Given the description of an element on the screen output the (x, y) to click on. 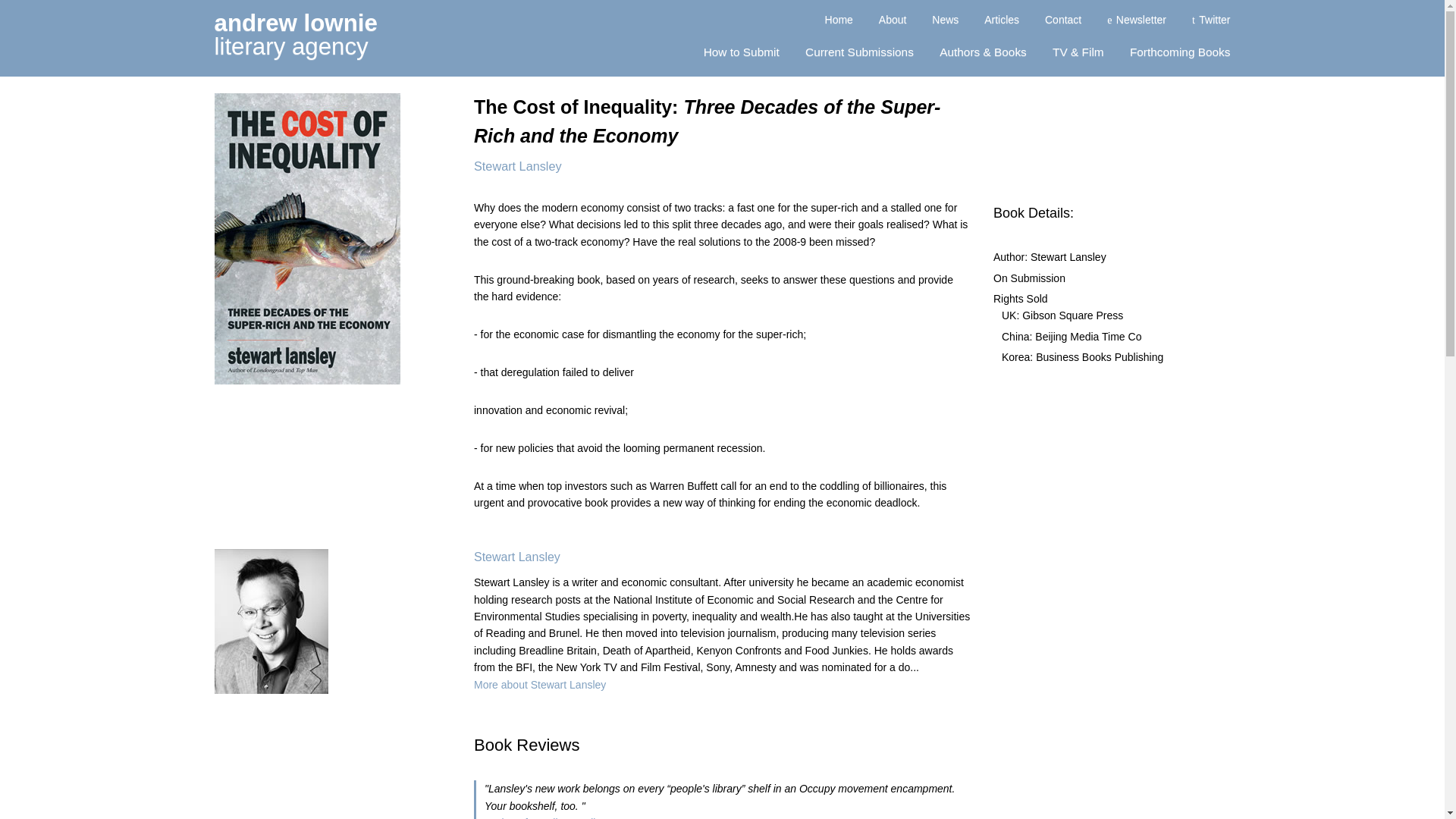
How to Submit (740, 54)
Articles (1001, 21)
Newsletter (1136, 21)
Home (839, 21)
About (295, 34)
Current Submissions (893, 21)
More about Stewart Lansley (859, 54)
Stewart Lansley (539, 684)
Contact (517, 556)
Twitter (1063, 21)
Forthcoming Books (1211, 21)
News (1179, 54)
Stewart Lansley (944, 21)
